Given the description of an element on the screen output the (x, y) to click on. 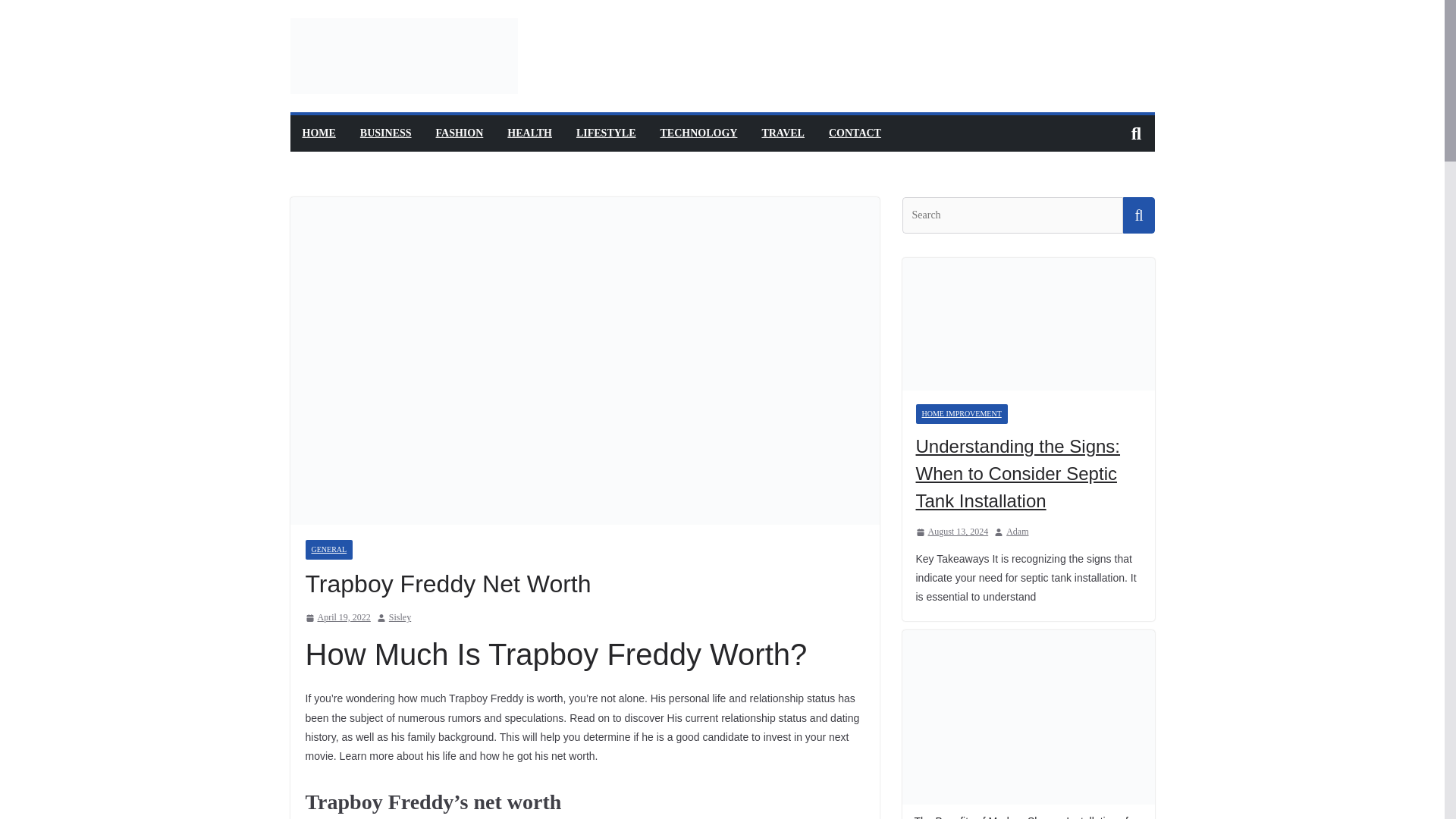
CONTACT (854, 133)
BUSINESS (385, 133)
HOME IMPROVEMENT (961, 414)
TECHNOLOGY (699, 133)
Sisley (399, 617)
TRAVEL (783, 133)
FASHION (459, 133)
April 19, 2022 (336, 617)
HOME (317, 133)
